Given the description of an element on the screen output the (x, y) to click on. 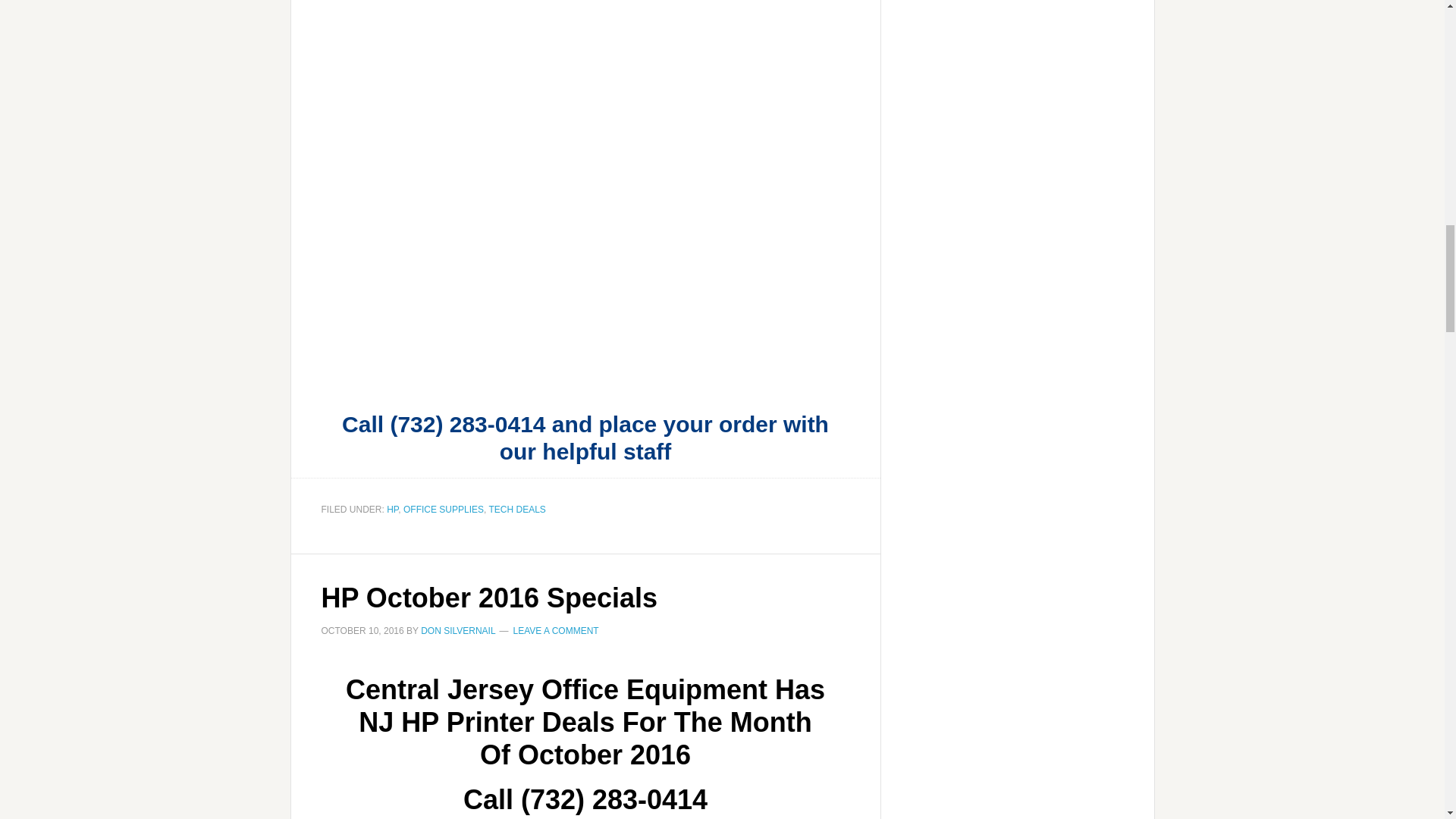
HP (392, 509)
HP October 2016 Specials (489, 597)
LEAVE A COMMENT (555, 630)
TECH DEALS (515, 509)
DON SILVERNAIL (457, 630)
OFFICE SUPPLIES (443, 509)
